Given the description of an element on the screen output the (x, y) to click on. 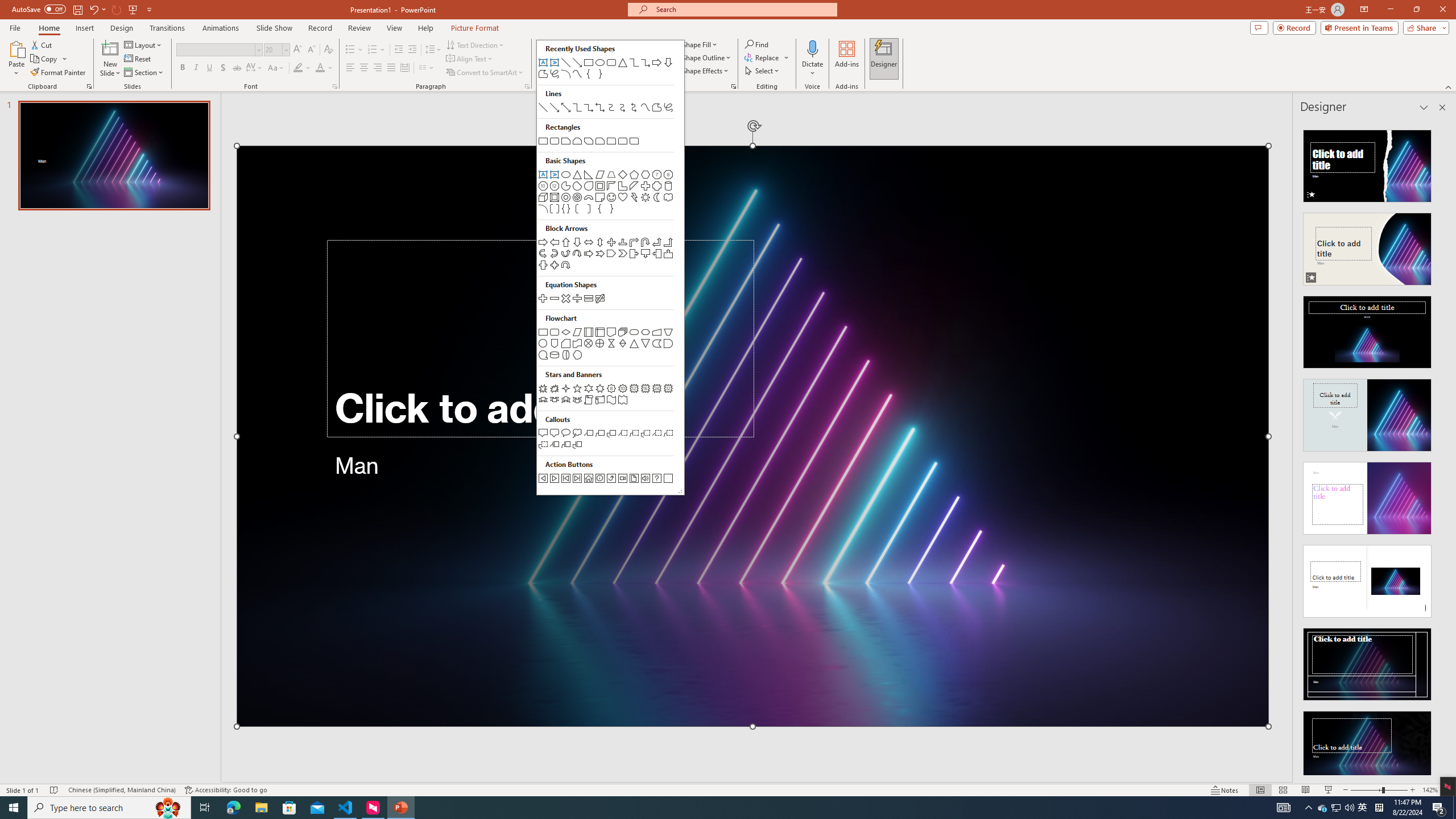
Font Color (324, 67)
Save (77, 9)
Select (762, 69)
Insert (83, 28)
Collapse the Ribbon (1448, 86)
Task View (204, 807)
Decrease Font Size (310, 49)
Dictate (812, 48)
Slide Show (1328, 790)
Accessibility Checker Accessibility: Good to go (226, 790)
Columns (426, 67)
From Beginning (133, 9)
